Given the description of an element on the screen output the (x, y) to click on. 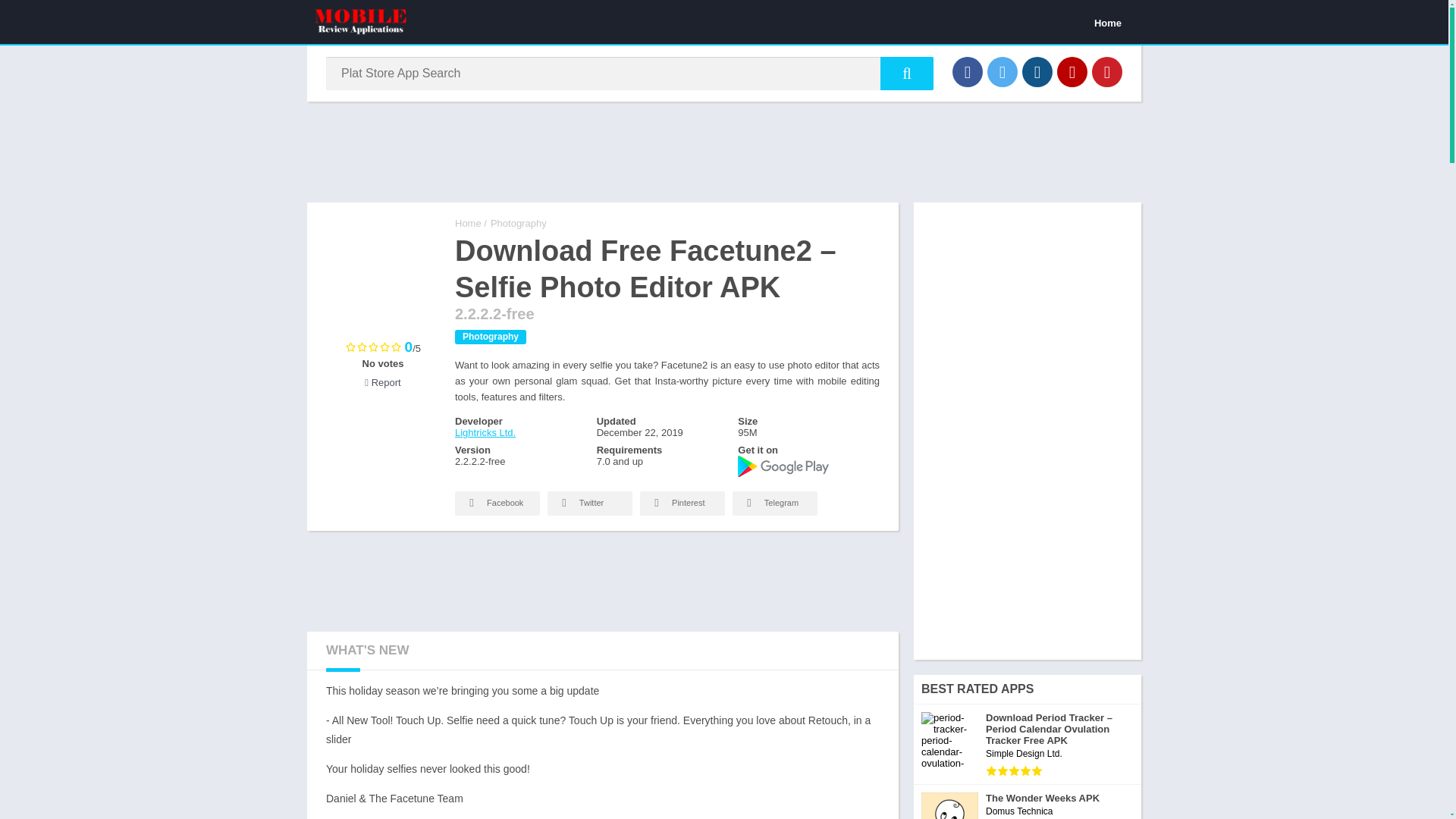
Twitter (589, 503)
Review Mobile Applications (467, 223)
Pinterest (1107, 71)
Twitter (1002, 71)
Telegram (774, 503)
Plat Store App Search (906, 73)
Photography (489, 336)
Home (467, 223)
Report (382, 382)
Instagram (1037, 71)
YouTube (1072, 71)
Photography (518, 223)
Lightricks Ltd. (484, 432)
Facebook (497, 503)
Facebook (967, 71)
